Given the description of an element on the screen output the (x, y) to click on. 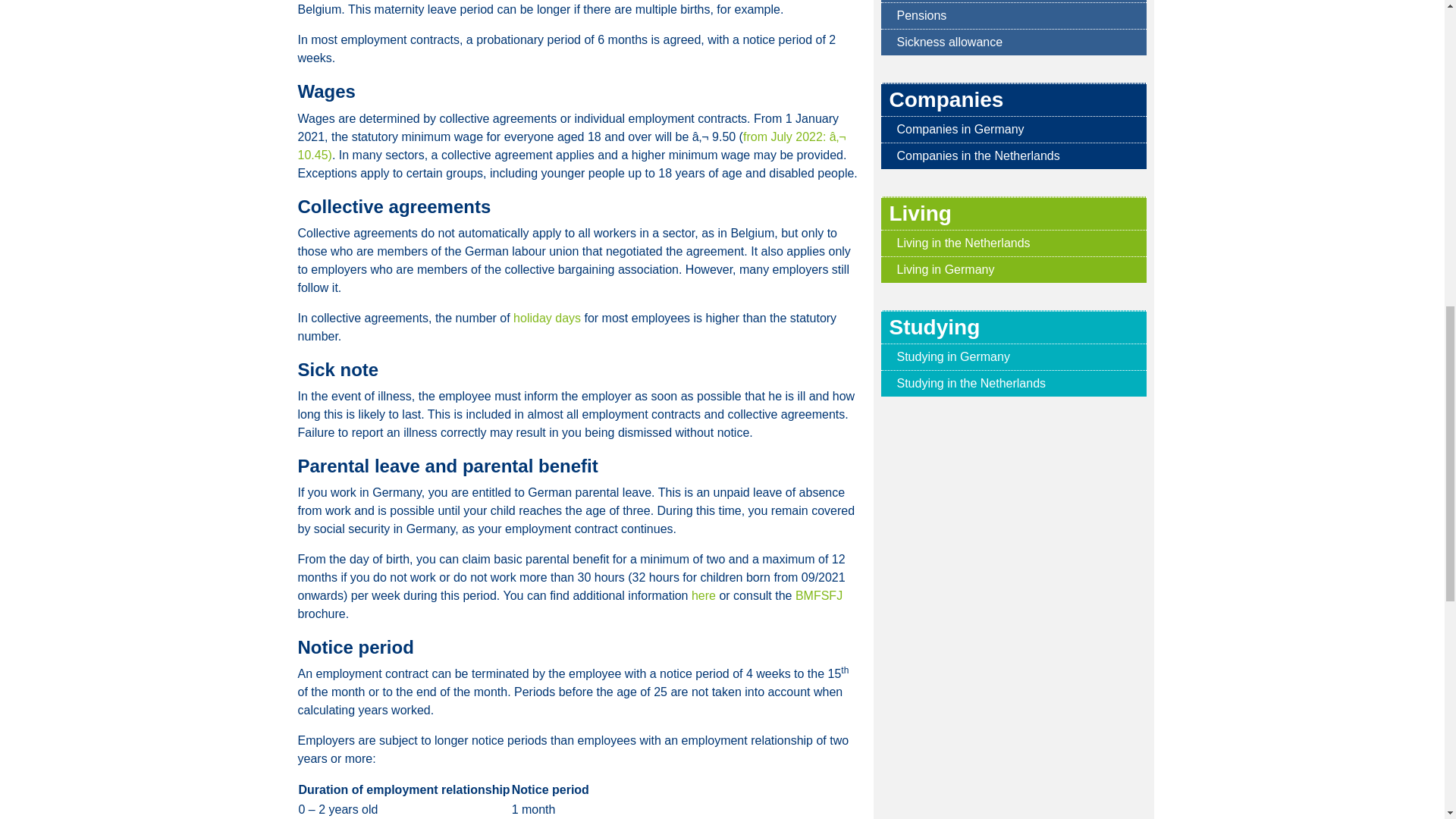
BMFSFJ (818, 594)
holiday days (546, 318)
here (703, 594)
